Given the description of an element on the screen output the (x, y) to click on. 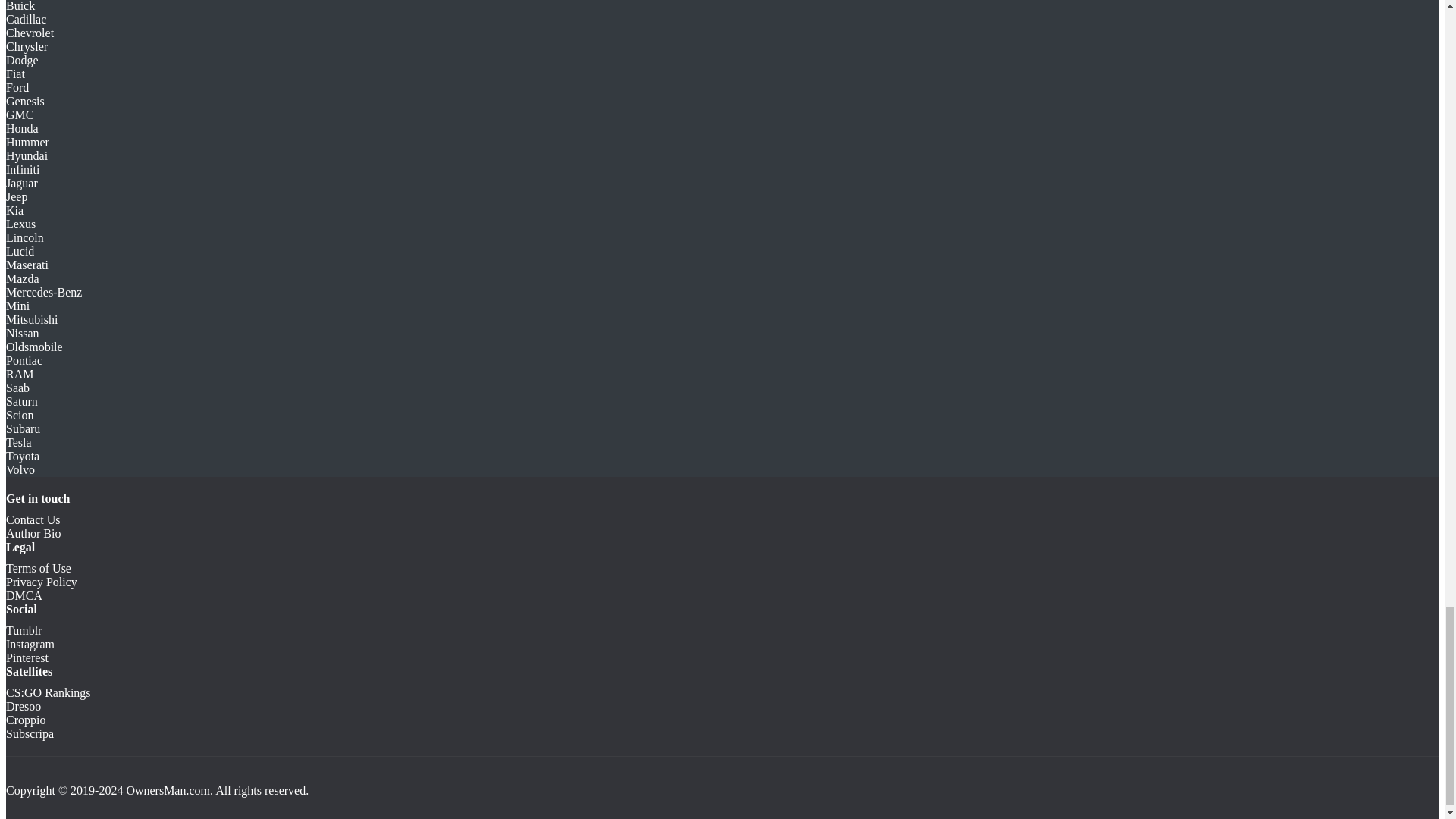
Jaguar (21, 182)
Buick (19, 6)
Maserati (26, 264)
Lincoln (24, 237)
CS:GO Rankings (47, 692)
Dodge (22, 60)
Kia (14, 210)
Croppio (25, 719)
Infiniti (22, 169)
Genesis (25, 101)
Lexus (19, 223)
Hyundai (26, 155)
Chevrolet (29, 32)
Honda (22, 128)
Mazda (22, 278)
